Given the description of an element on the screen output the (x, y) to click on. 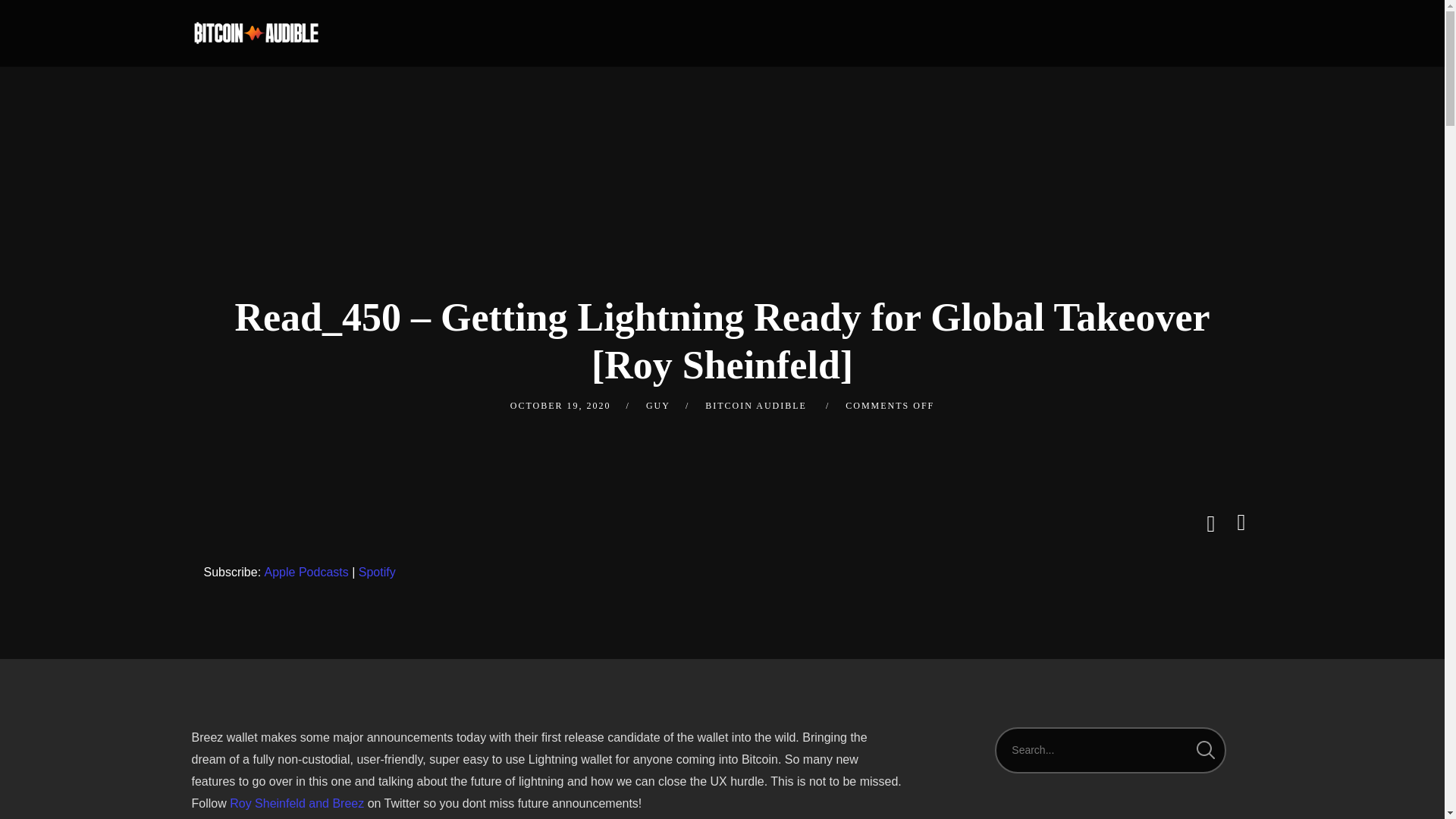
Apple Podcasts (306, 572)
Roy Sheinfeld and Breez (297, 802)
Submit (32, 22)
Spotify (377, 572)
Spotify (377, 572)
GUY (657, 405)
Apple Podcasts (306, 572)
Bitcoin Audible (255, 33)
